Given the description of an element on the screen output the (x, y) to click on. 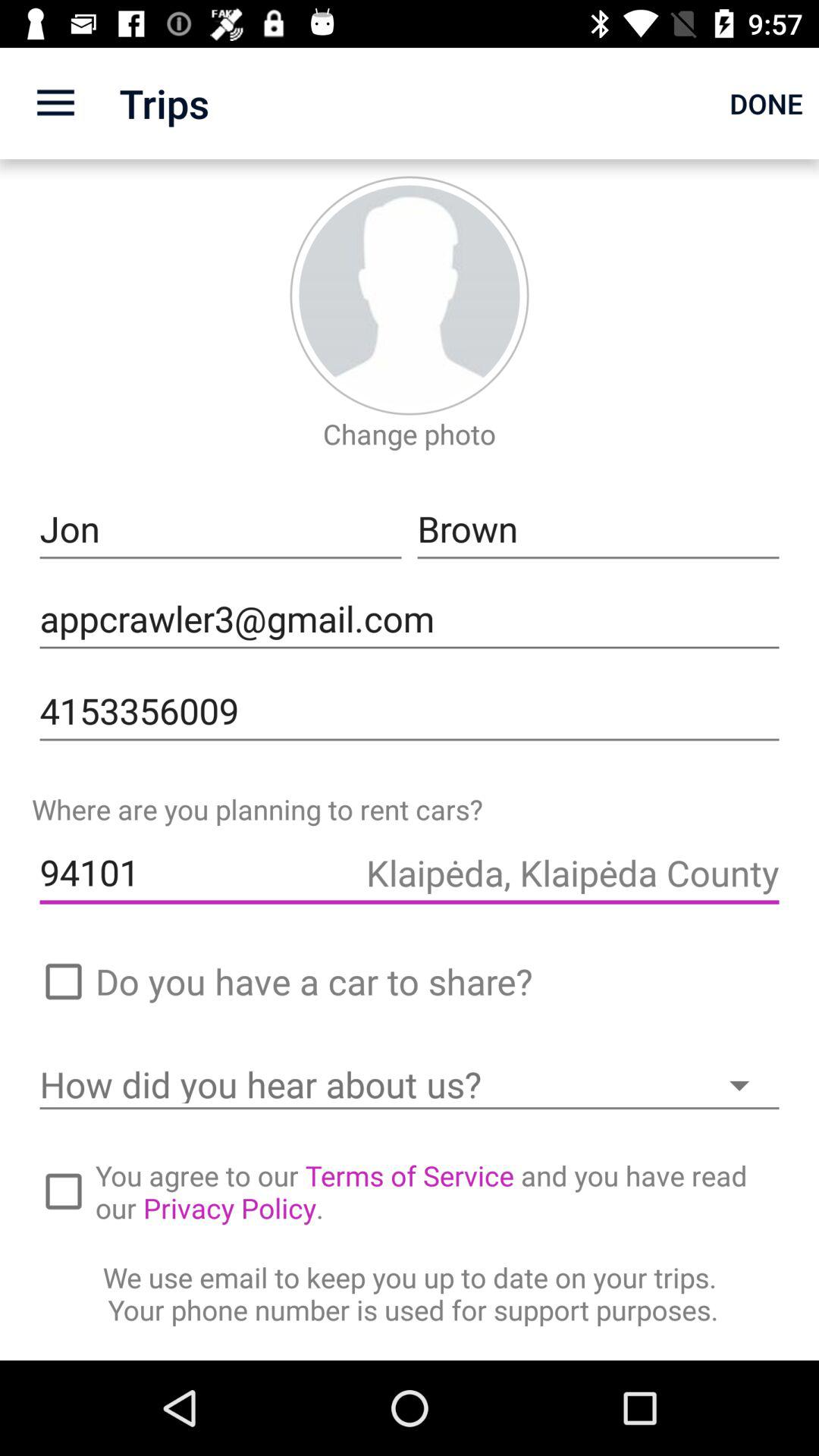
turn off the icon above the do you have (409, 872)
